Given the description of an element on the screen output the (x, y) to click on. 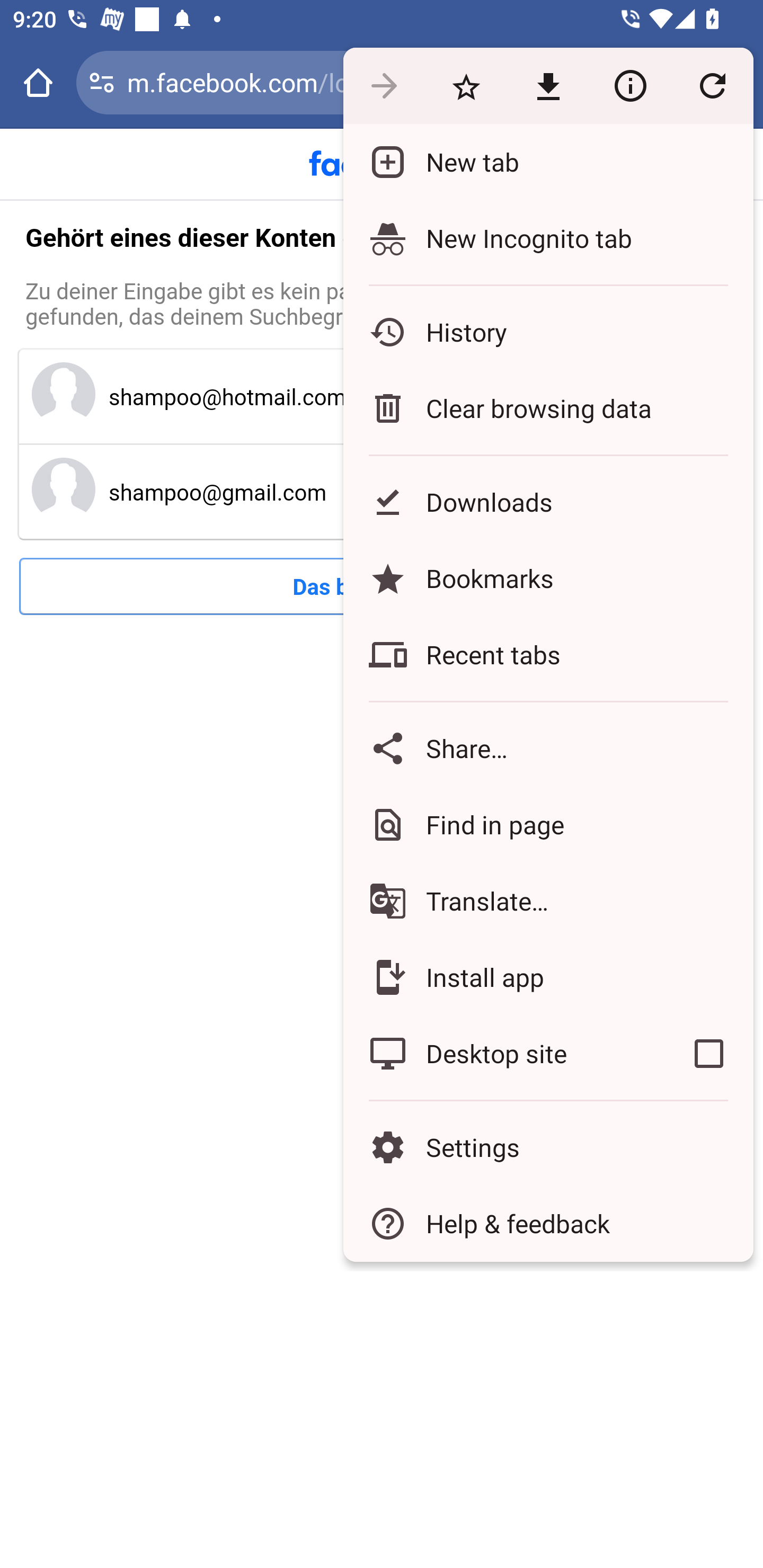
Forward (383, 85)
Bookmark (465, 85)
Download (548, 85)
Page info (630, 85)
Refresh (712, 85)
New tab (548, 161)
New Incognito tab (548, 237)
History (548, 332)
Clear browsing data (548, 408)
Downloads (548, 502)
Bookmarks (548, 578)
Recent tabs (548, 654)
Share… (548, 748)
Find in page (548, 824)
Translate… (548, 900)
Install app (548, 977)
Desktop site Turn on Request desktop site (503, 1053)
Settings (548, 1146)
Help & feedback (548, 1223)
